Given the description of an element on the screen output the (x, y) to click on. 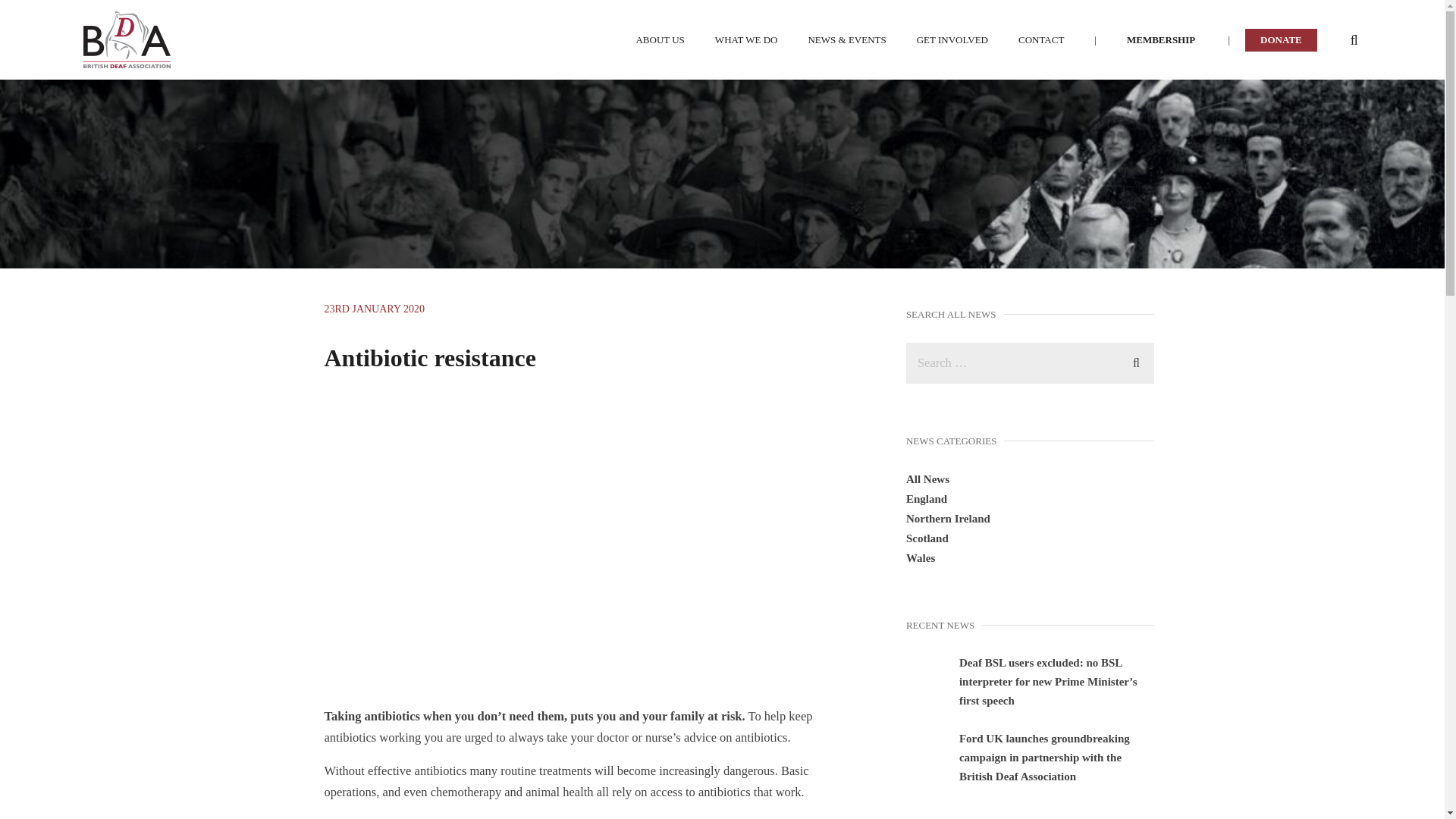
Search (1136, 360)
Search (1136, 360)
ABOUT US (659, 39)
WHAT WE DO (745, 39)
